Given the description of an element on the screen output the (x, y) to click on. 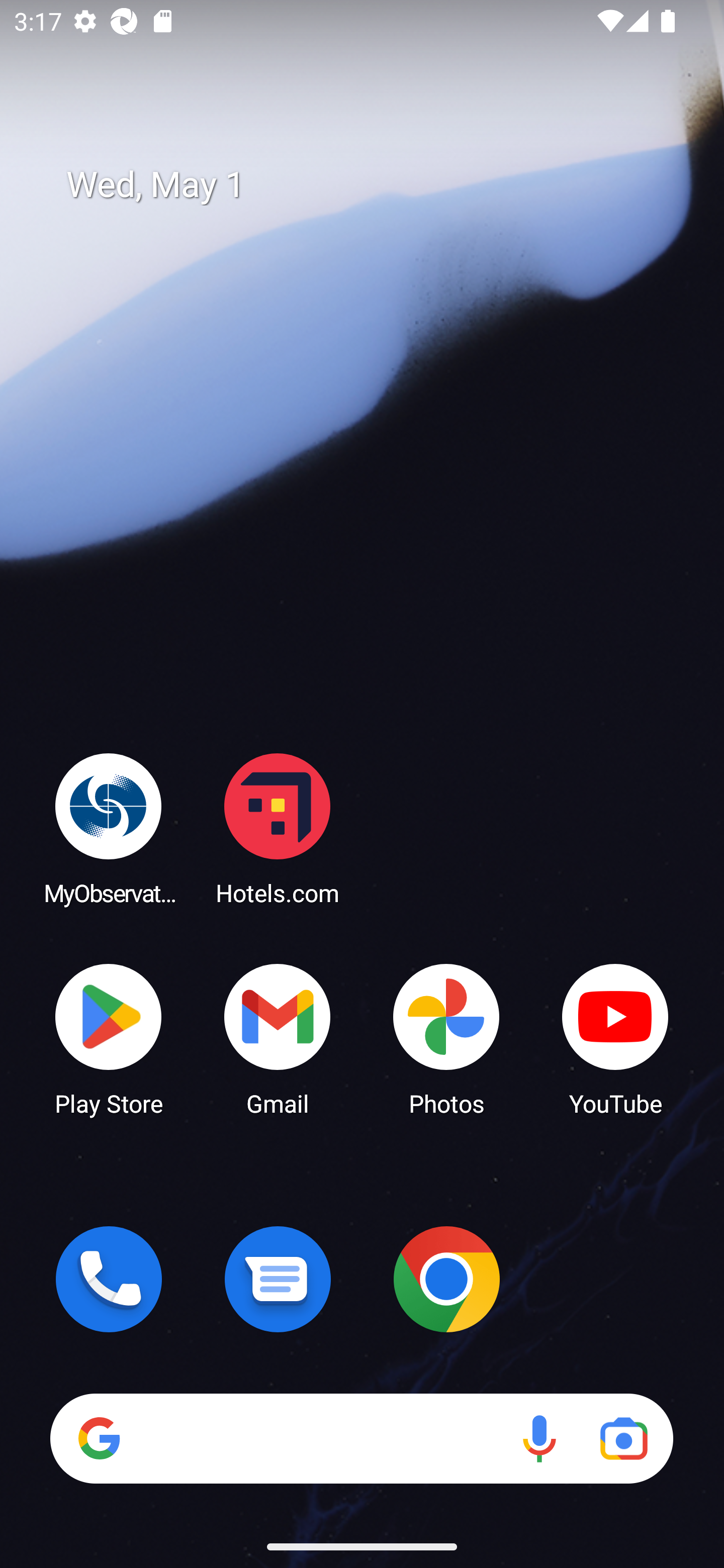
Wed, May 1 (375, 184)
MyObservatory (108, 828)
Hotels.com (277, 828)
Play Store (108, 1038)
Gmail (277, 1038)
Photos (445, 1038)
YouTube (615, 1038)
Phone (108, 1279)
Messages (277, 1279)
Chrome (446, 1279)
Search Voice search Google Lens (361, 1438)
Voice search (539, 1438)
Google Lens (623, 1438)
